Given the description of an element on the screen output the (x, y) to click on. 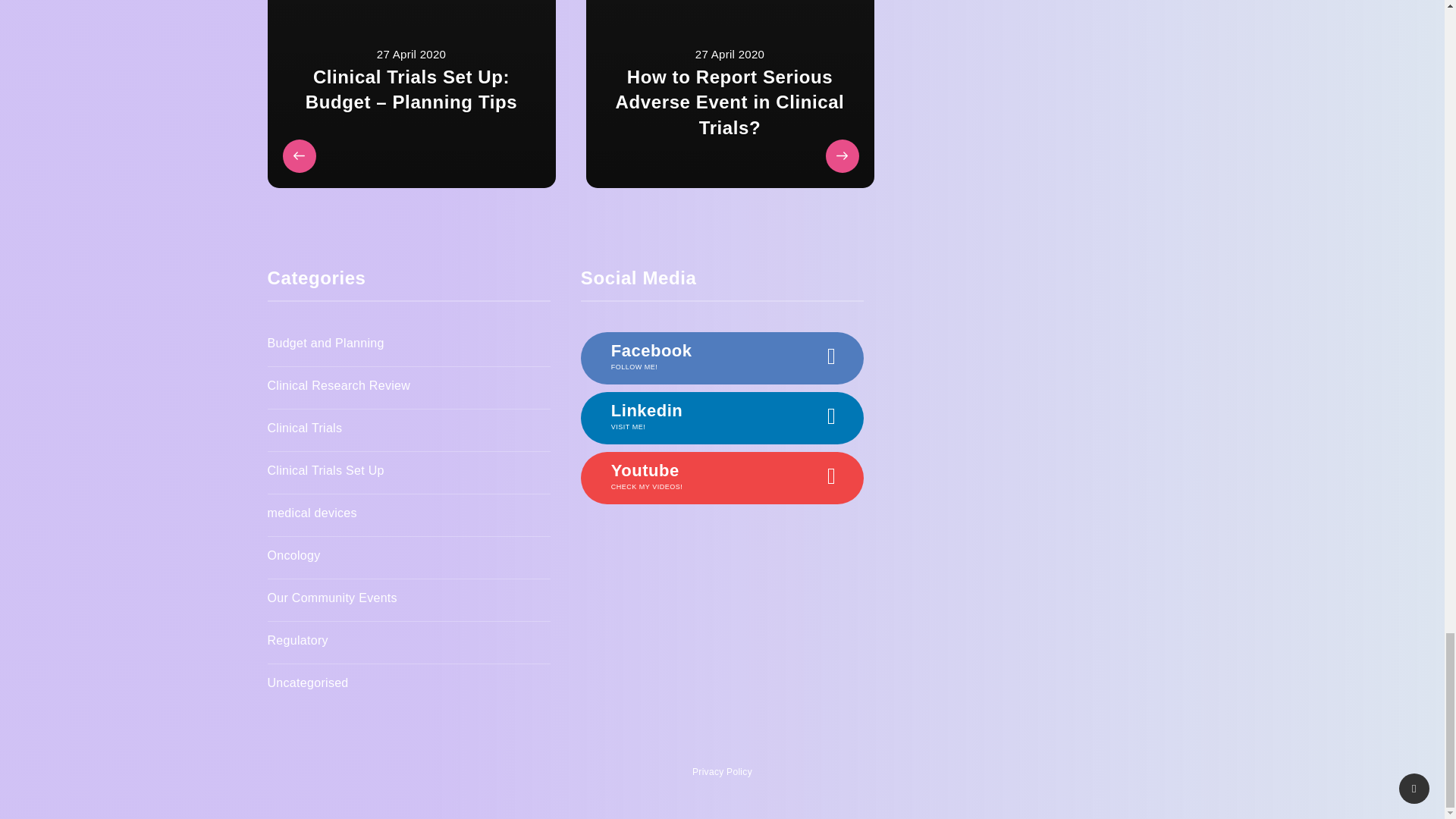
Clinical Trials Set Up (325, 472)
Clinical Trials (304, 429)
Budget and Planning (325, 345)
Clinical Research Review (338, 387)
